Given the description of an element on the screen output the (x, y) to click on. 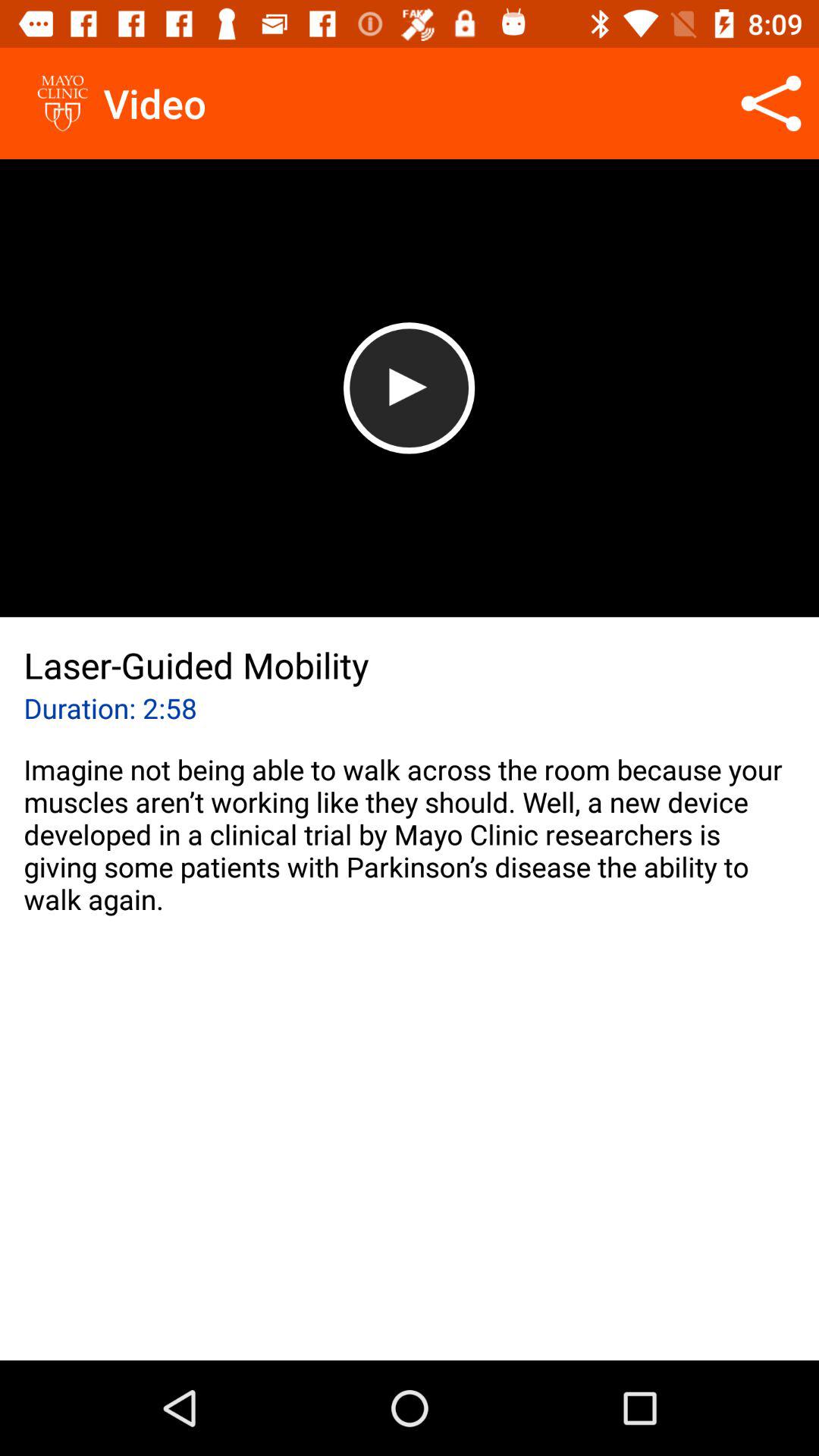
tap icon next to the video item (771, 103)
